Given the description of an element on the screen output the (x, y) to click on. 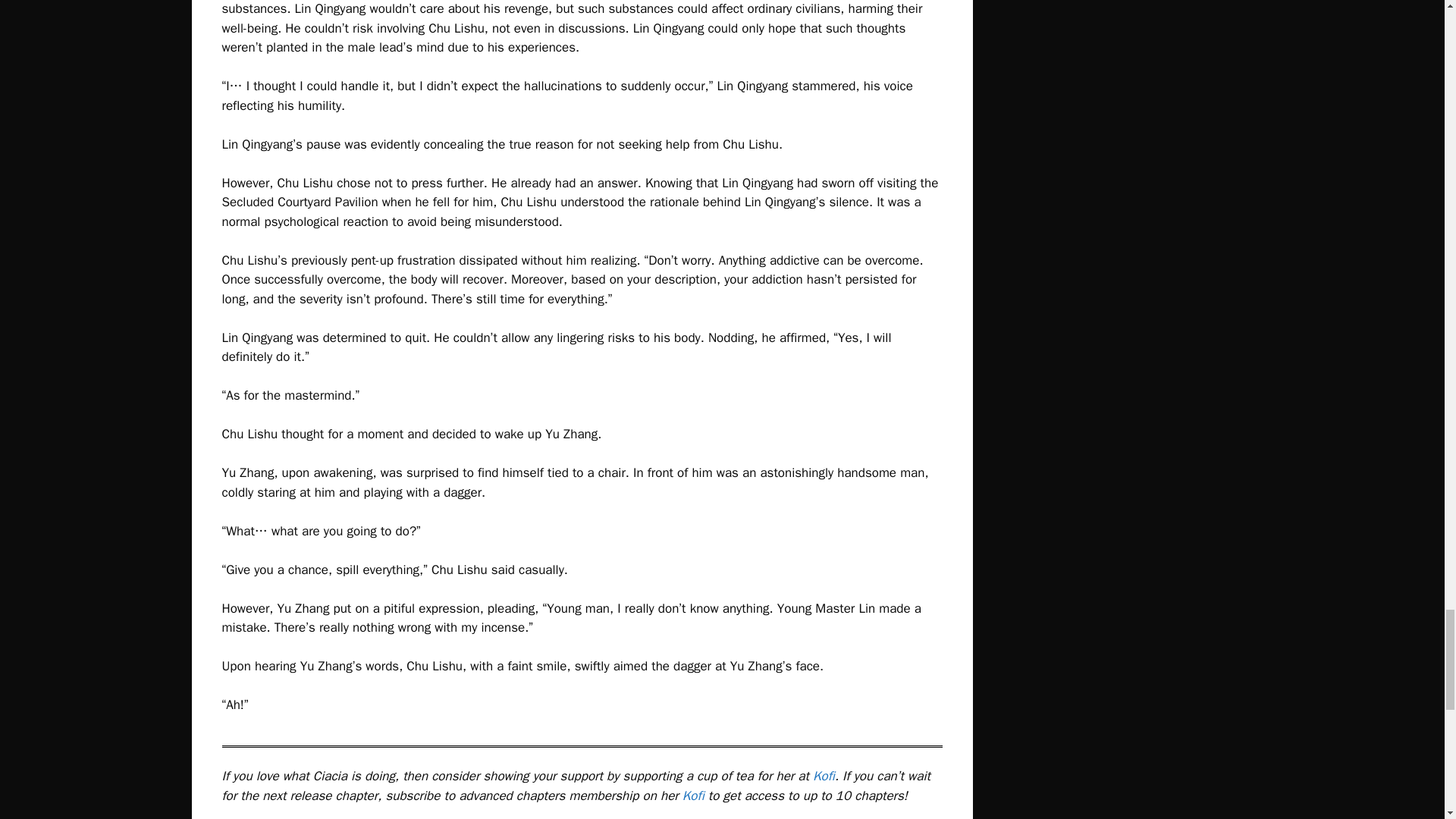
Kofi (823, 775)
Kofi (693, 795)
